Given the description of an element on the screen output the (x, y) to click on. 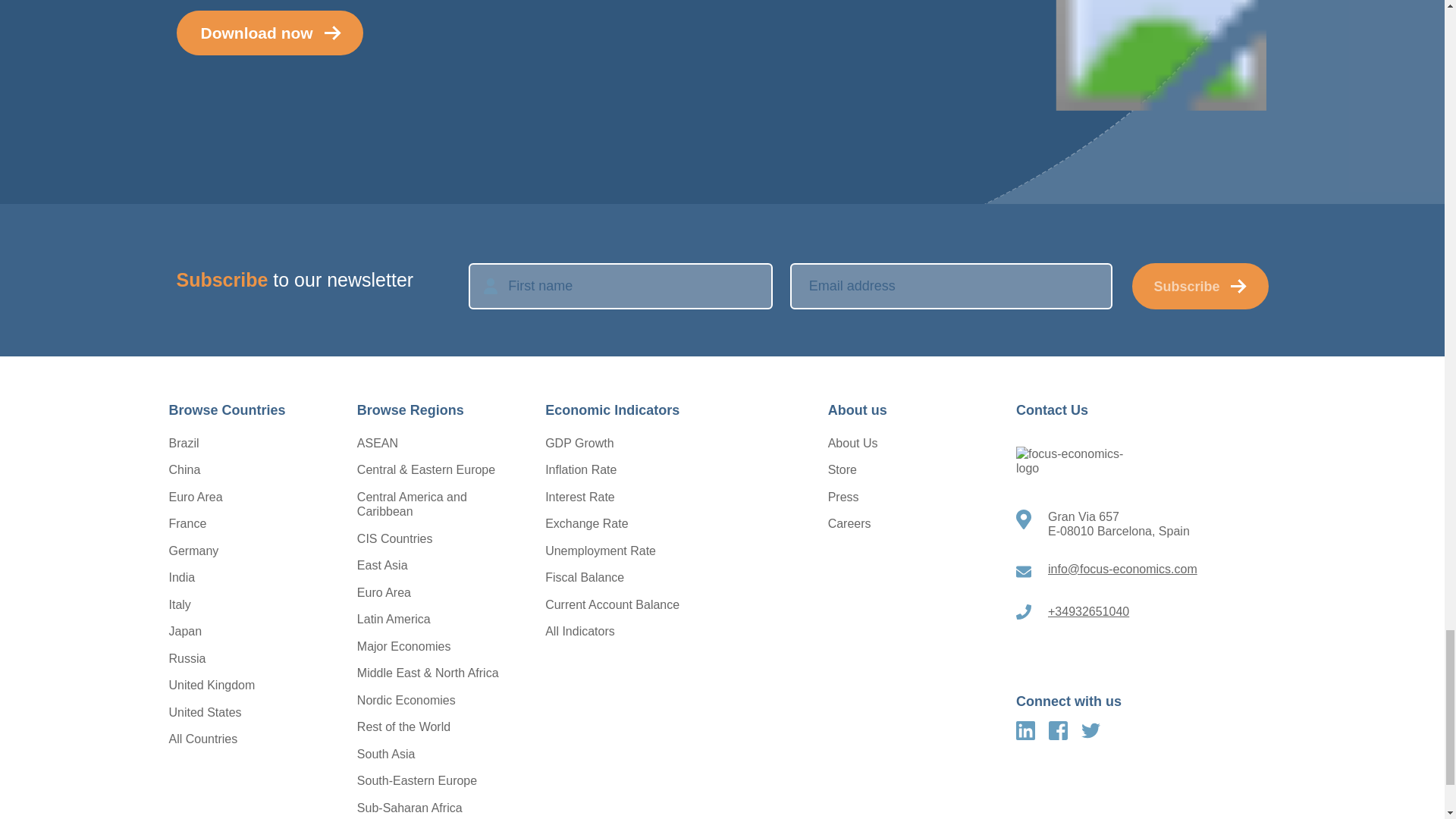
Subscribe (1200, 285)
